Given the description of an element on the screen output the (x, y) to click on. 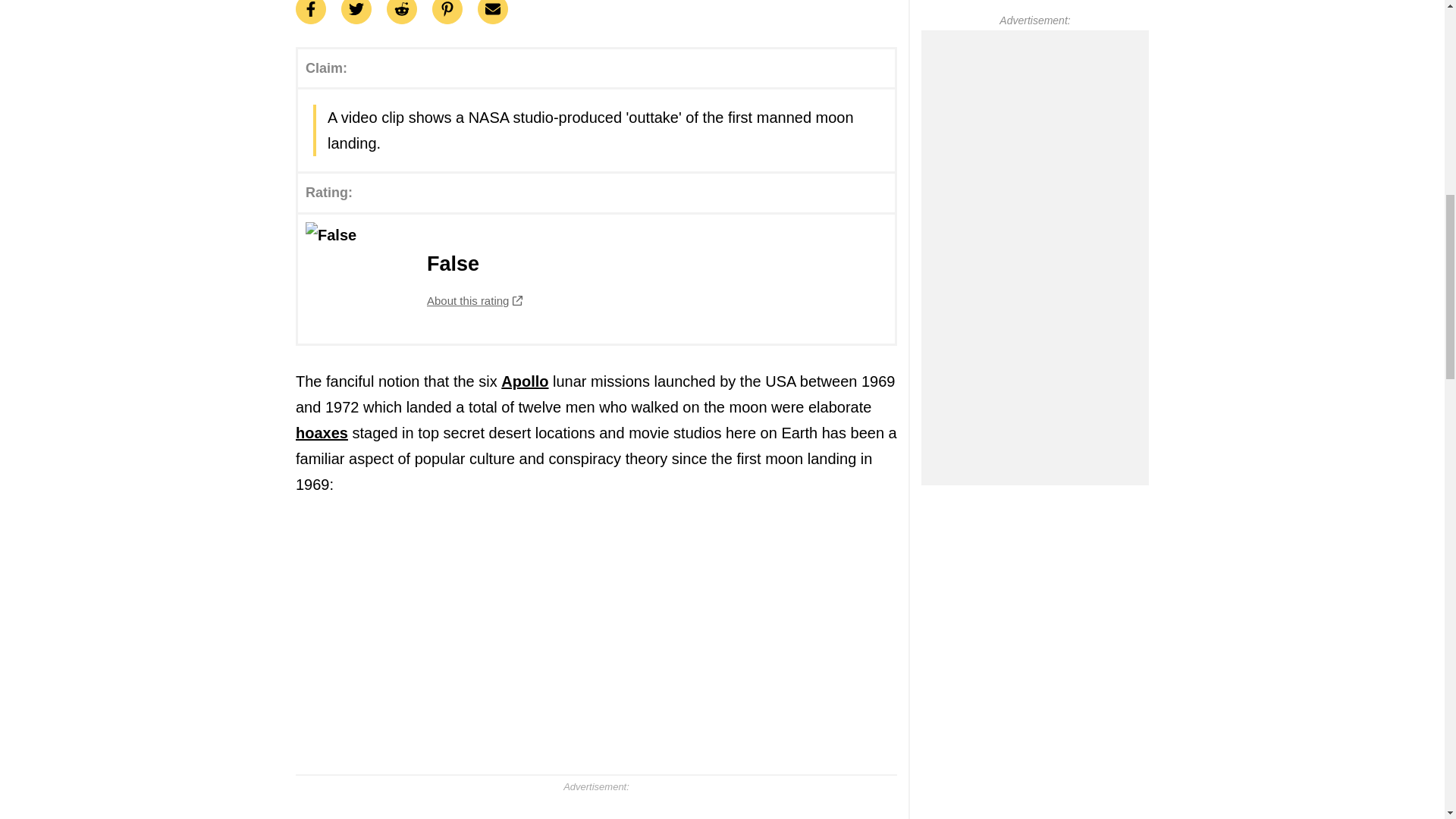
Apollo (595, 278)
